Given the description of an element on the screen output the (x, y) to click on. 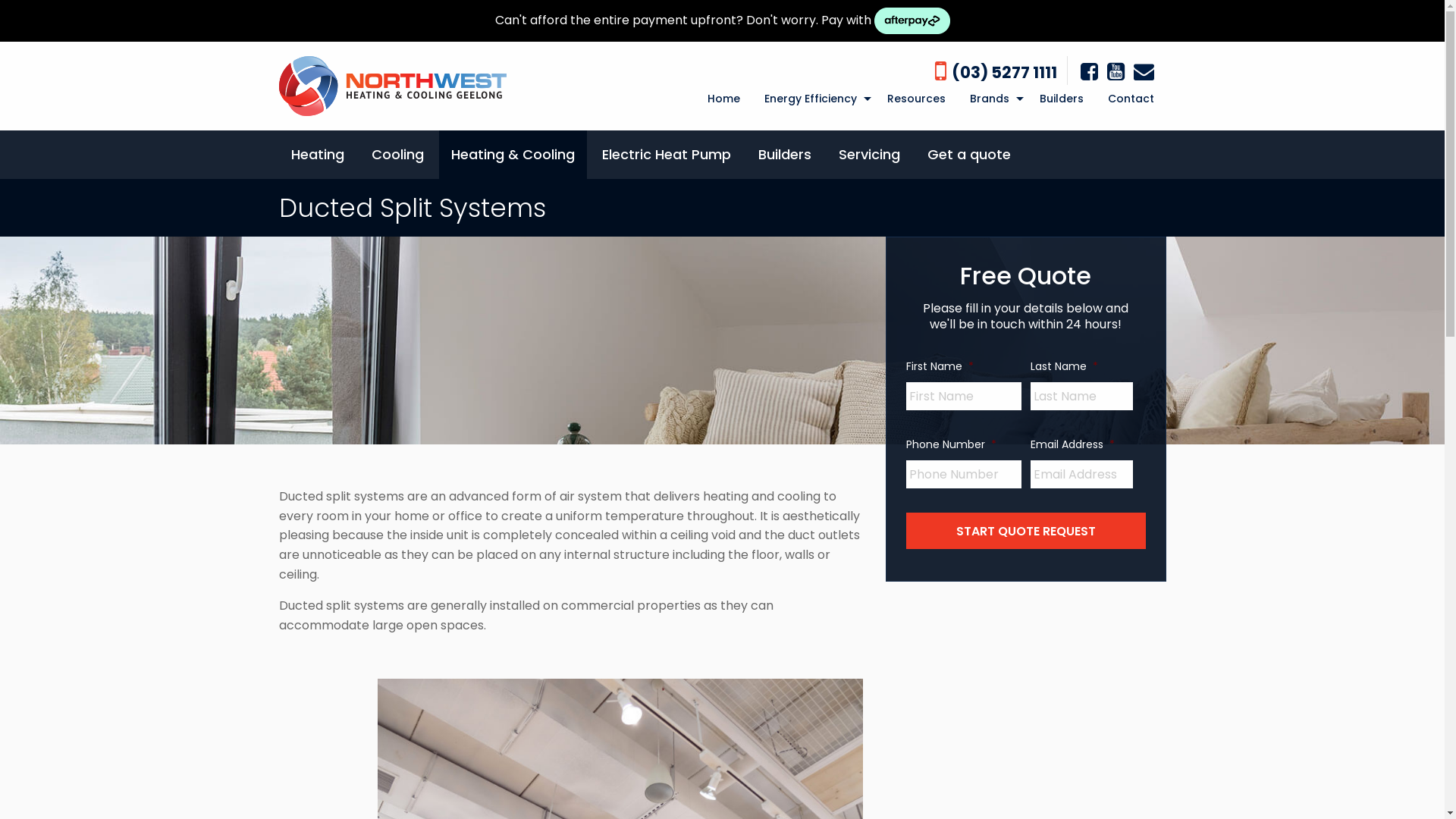
Start quote request Element type: text (1025, 530)
Heating Element type: text (317, 154)
(03) 5277 1111 Element type: text (1003, 72)
Builders Element type: text (1060, 98)
Cooling Element type: text (397, 154)
Electric Heat Pump Element type: text (666, 154)
Get a quote Element type: text (968, 154)
Heating & Cooling Element type: text (512, 154)
Builders Element type: text (784, 154)
Energy Efficiency Element type: text (813, 98)
Resources Element type: text (916, 98)
Home Element type: text (722, 98)
Brands Element type: text (991, 98)
Servicing Element type: text (869, 154)
Contact Element type: text (1130, 98)
